Given the description of an element on the screen output the (x, y) to click on. 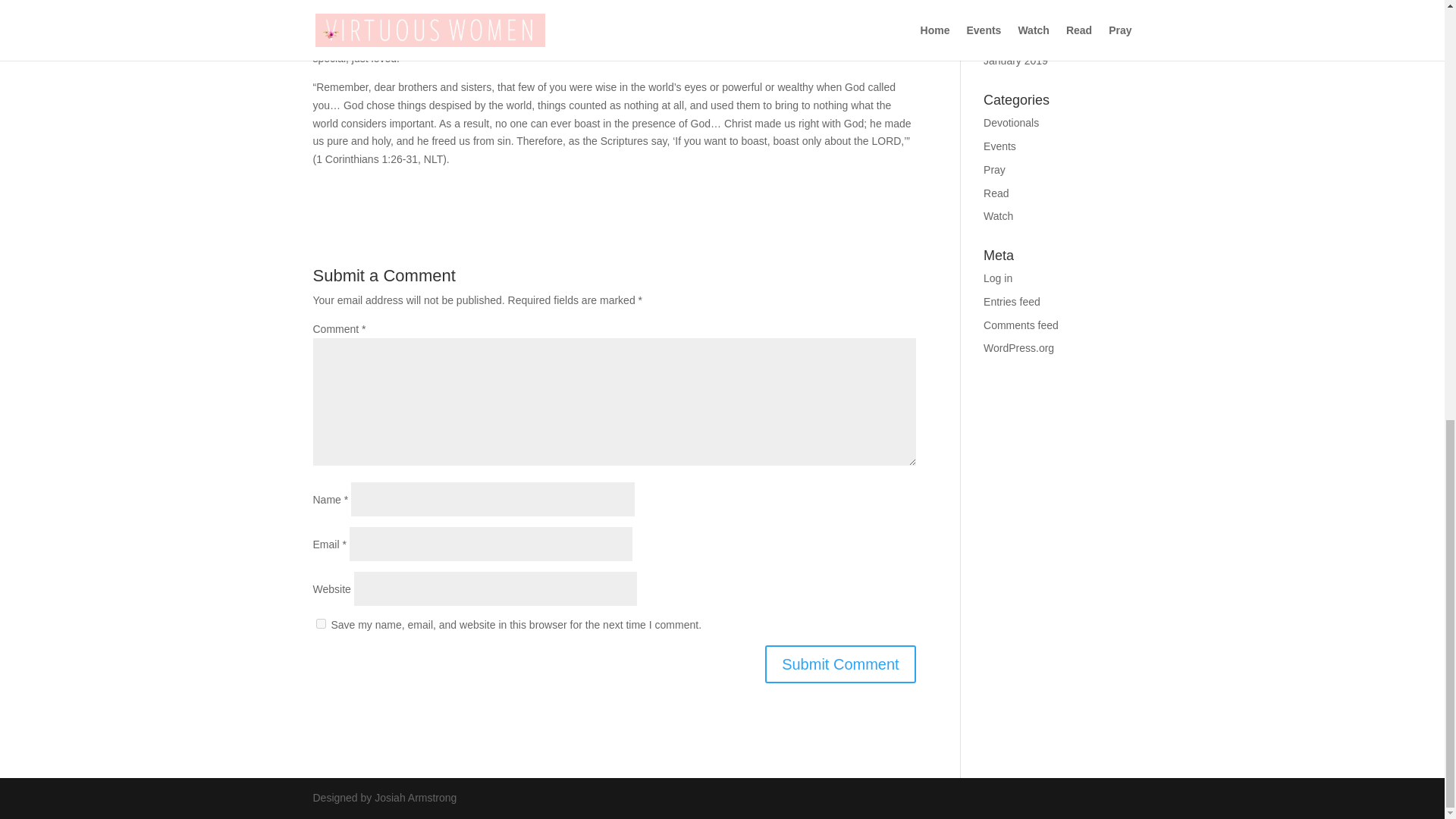
yes (319, 623)
March 2019 (1011, 14)
Submit Comment (840, 664)
Submit Comment (840, 664)
